Given the description of an element on the screen output the (x, y) to click on. 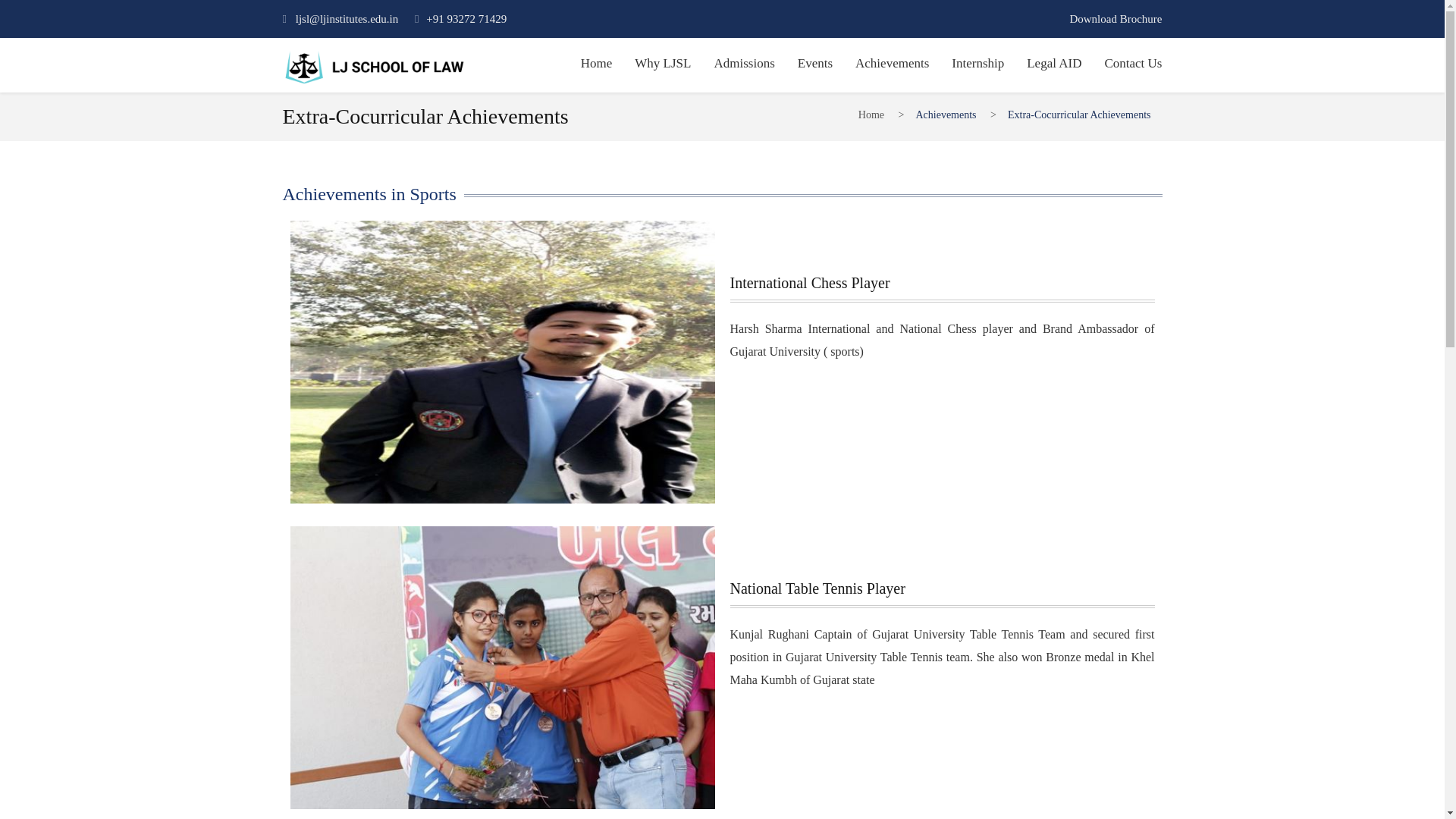
Go to Kingster. (871, 114)
Why LJSL (662, 64)
Download Brochure (1114, 25)
